Given the description of an element on the screen output the (x, y) to click on. 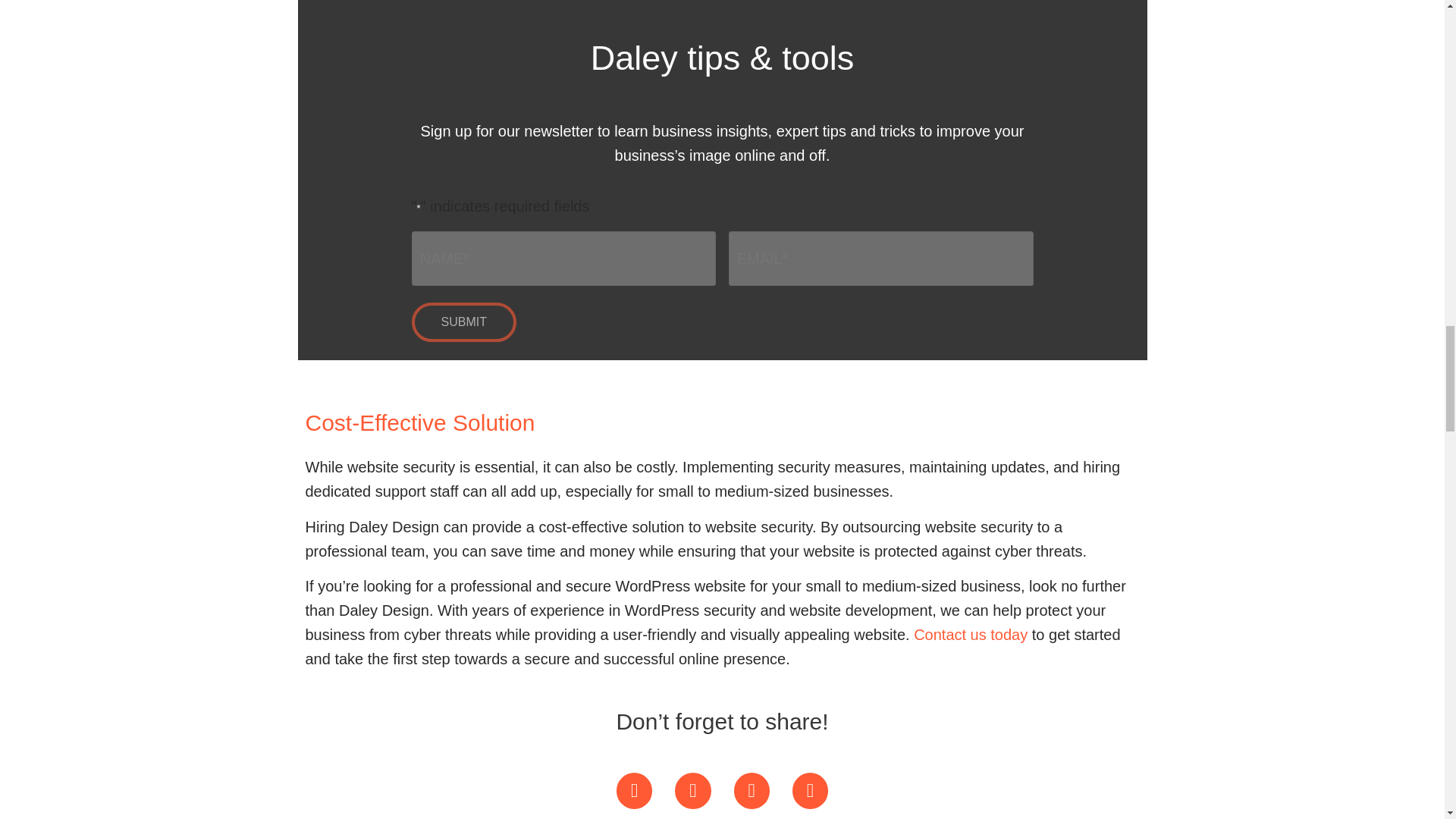
Submit (462, 322)
Submit (462, 322)
Contact us today (970, 634)
